Given the description of an element on the screen output the (x, y) to click on. 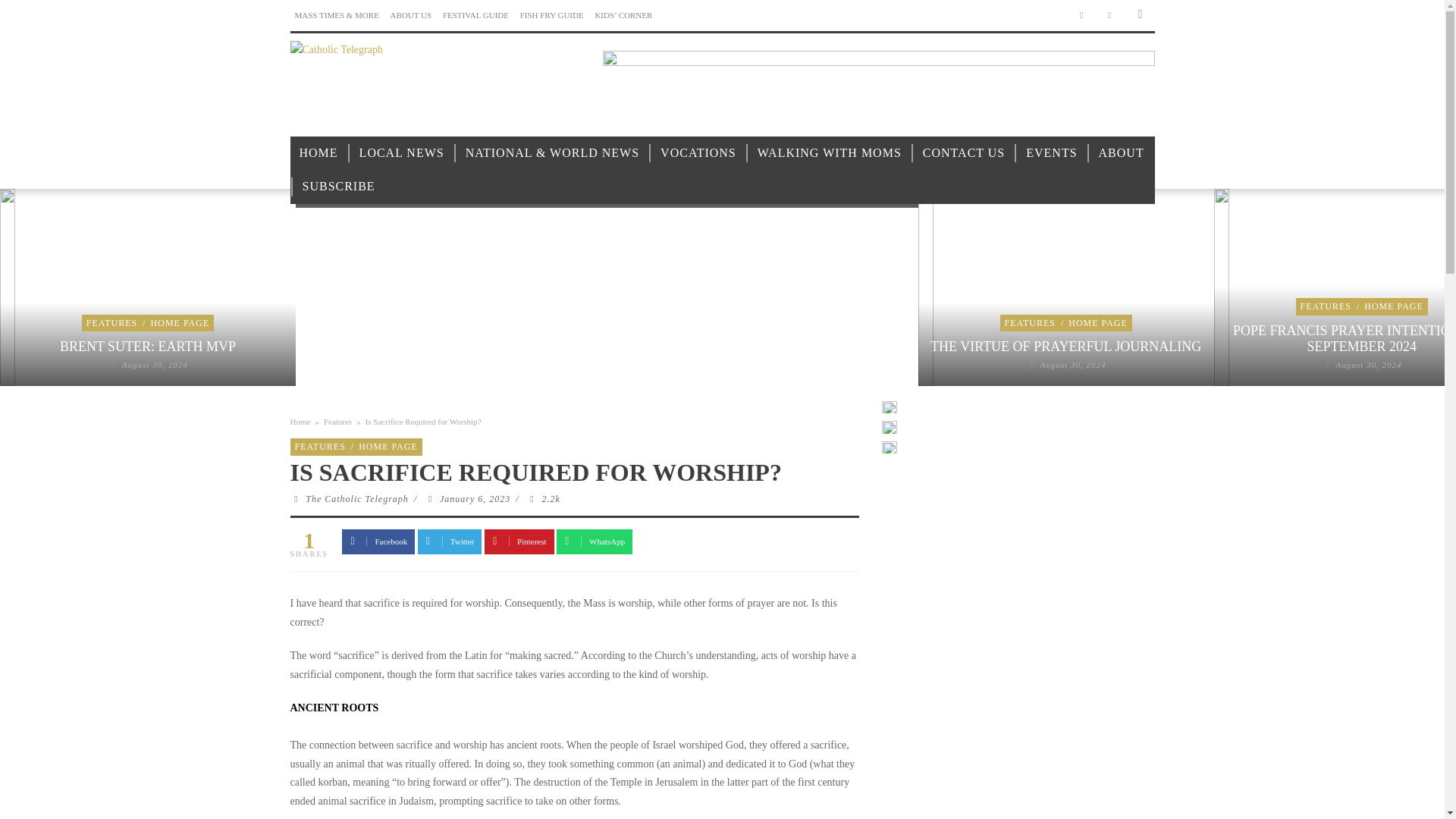
Permalink to Brent Suter: Earth MVP (147, 346)
View all posts in Features (1029, 322)
Twitter (1110, 15)
ABOUT (1121, 153)
Facebook (1081, 15)
FESTIVAL GUIDE (475, 15)
View all posts in Features (110, 322)
ABOUT US (410, 15)
Walking with Moms (829, 153)
